Given the description of an element on the screen output the (x, y) to click on. 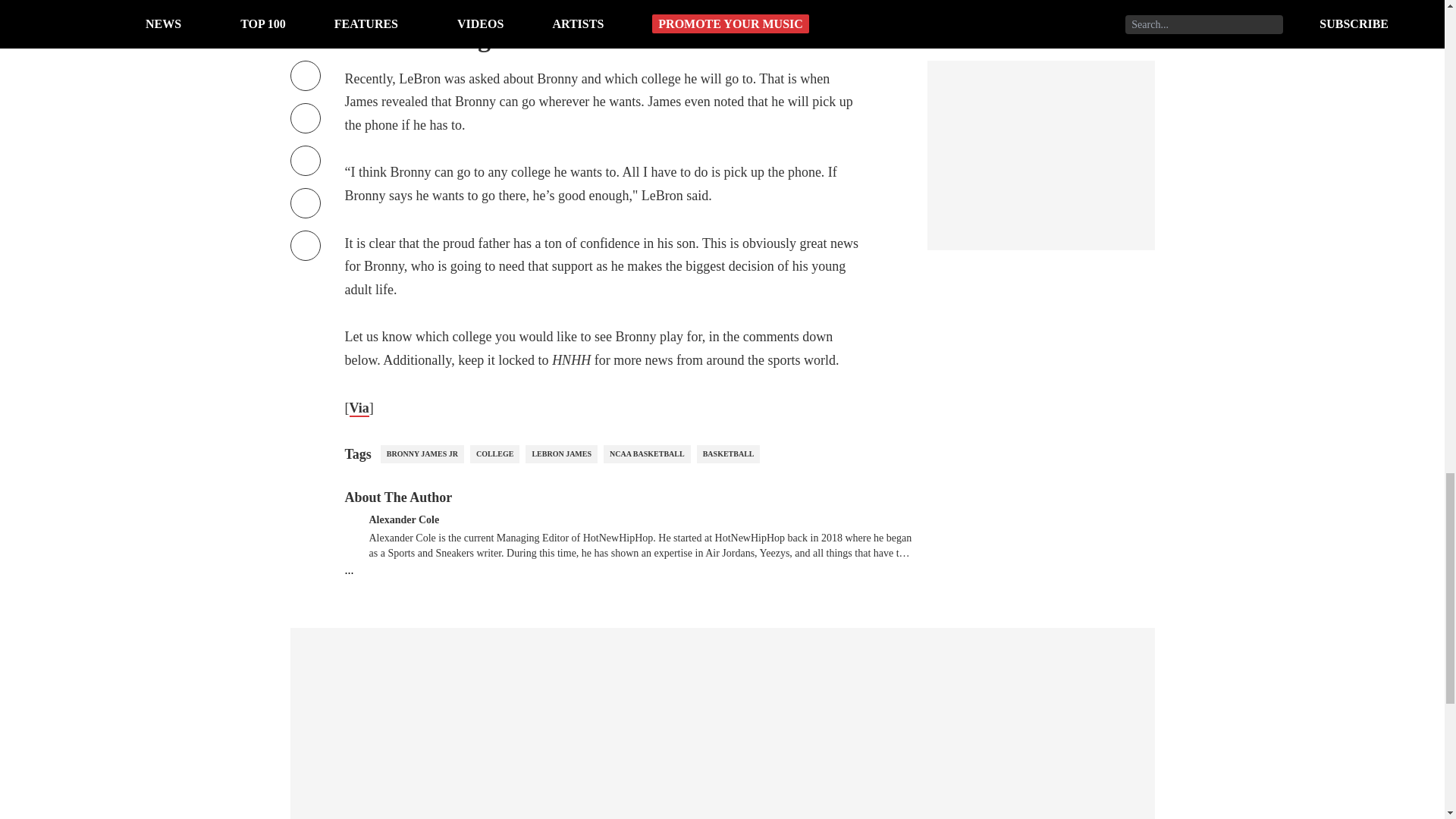
Via (358, 408)
BASKETBALL (728, 454)
LEBRON JAMES (560, 454)
Alexander Cole (403, 517)
NCAA BASKETBALL (647, 454)
BRONNY JAMES JR (422, 454)
COLLEGE (494, 454)
